Given the description of an element on the screen output the (x, y) to click on. 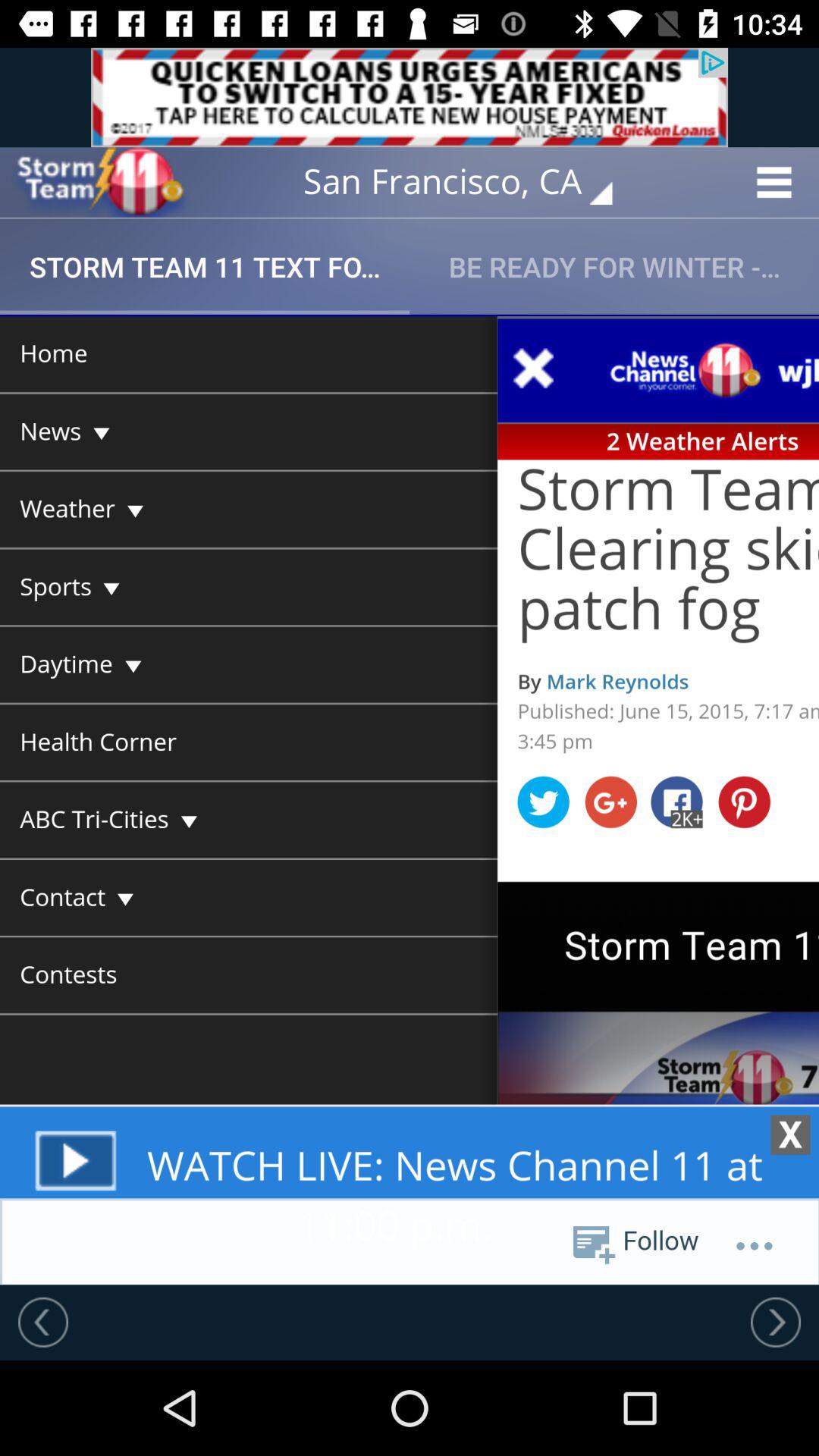
next page (775, 1322)
